Given the description of an element on the screen output the (x, y) to click on. 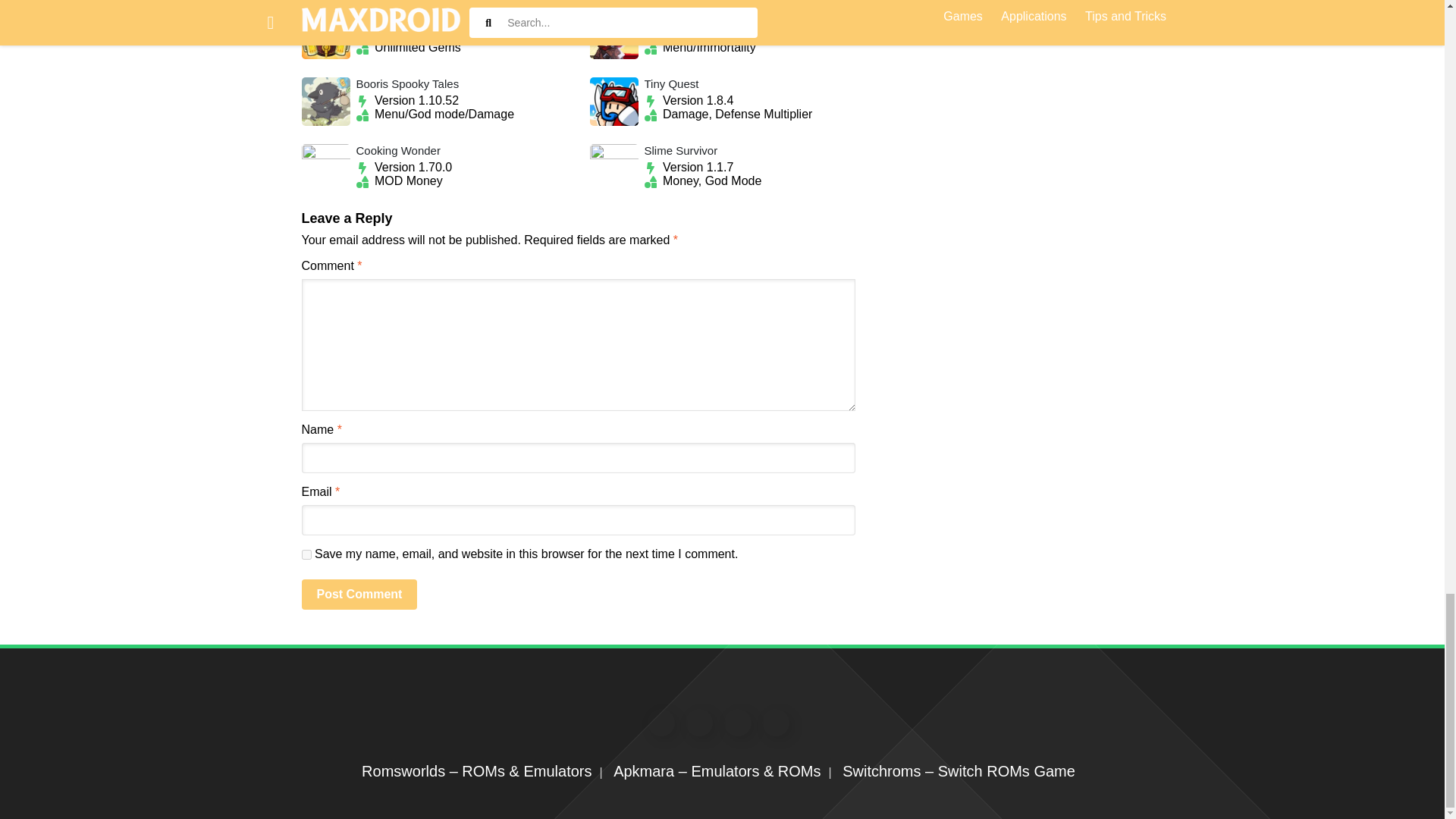
Idle Distiller Tycoon: Factory MOD Unlimited Gems v3.1.6 (434, 34)
Cooking Wonder MOD Unlimited Money v1.70.0 (434, 168)
Post Comment (359, 594)
yes (306, 554)
